Given the description of an element on the screen output the (x, y) to click on. 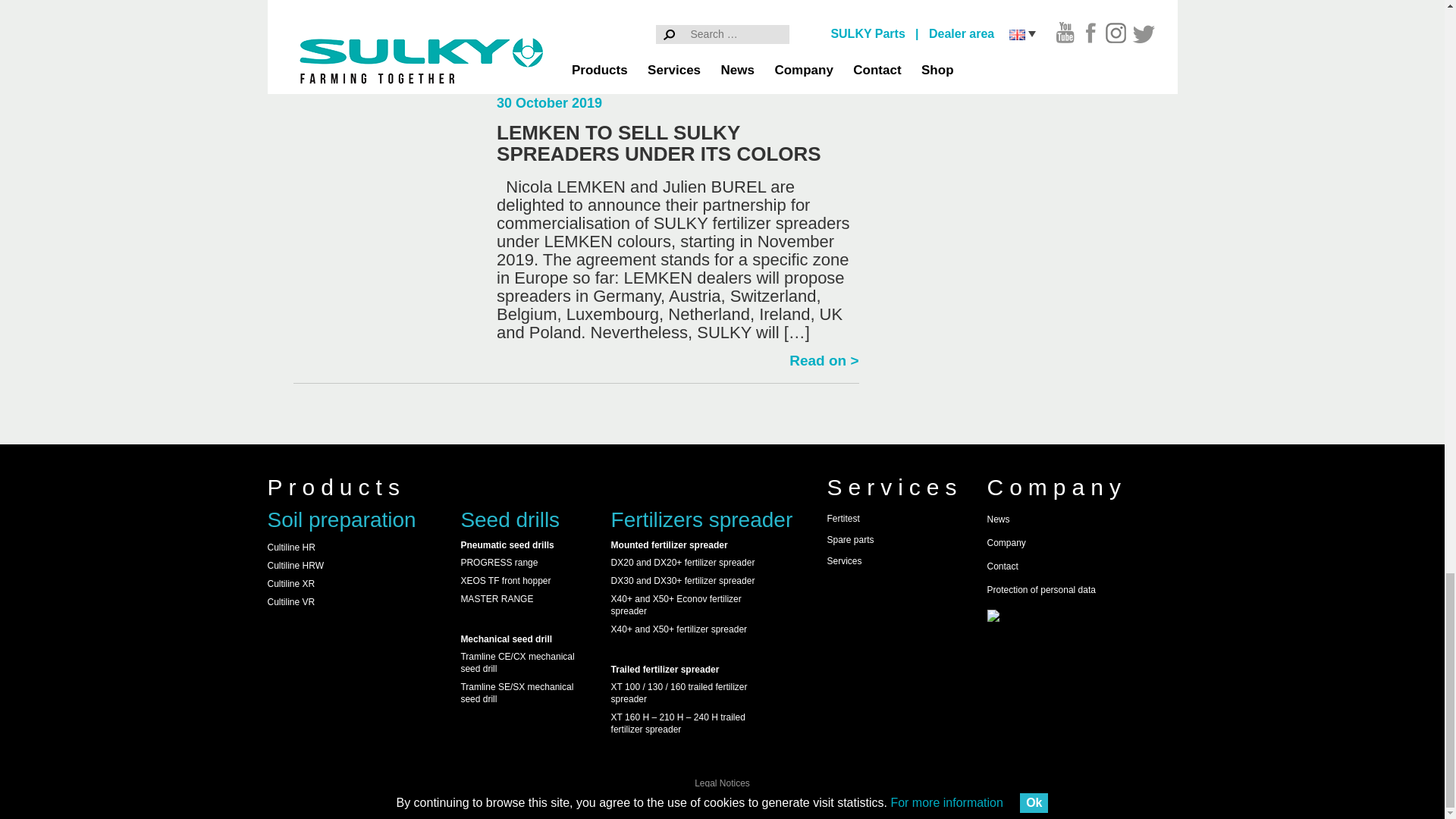
Facebook (862, 608)
Twitter (920, 608)
Youtube (836, 608)
Instgram (889, 608)
